Given the description of an element on the screen output the (x, y) to click on. 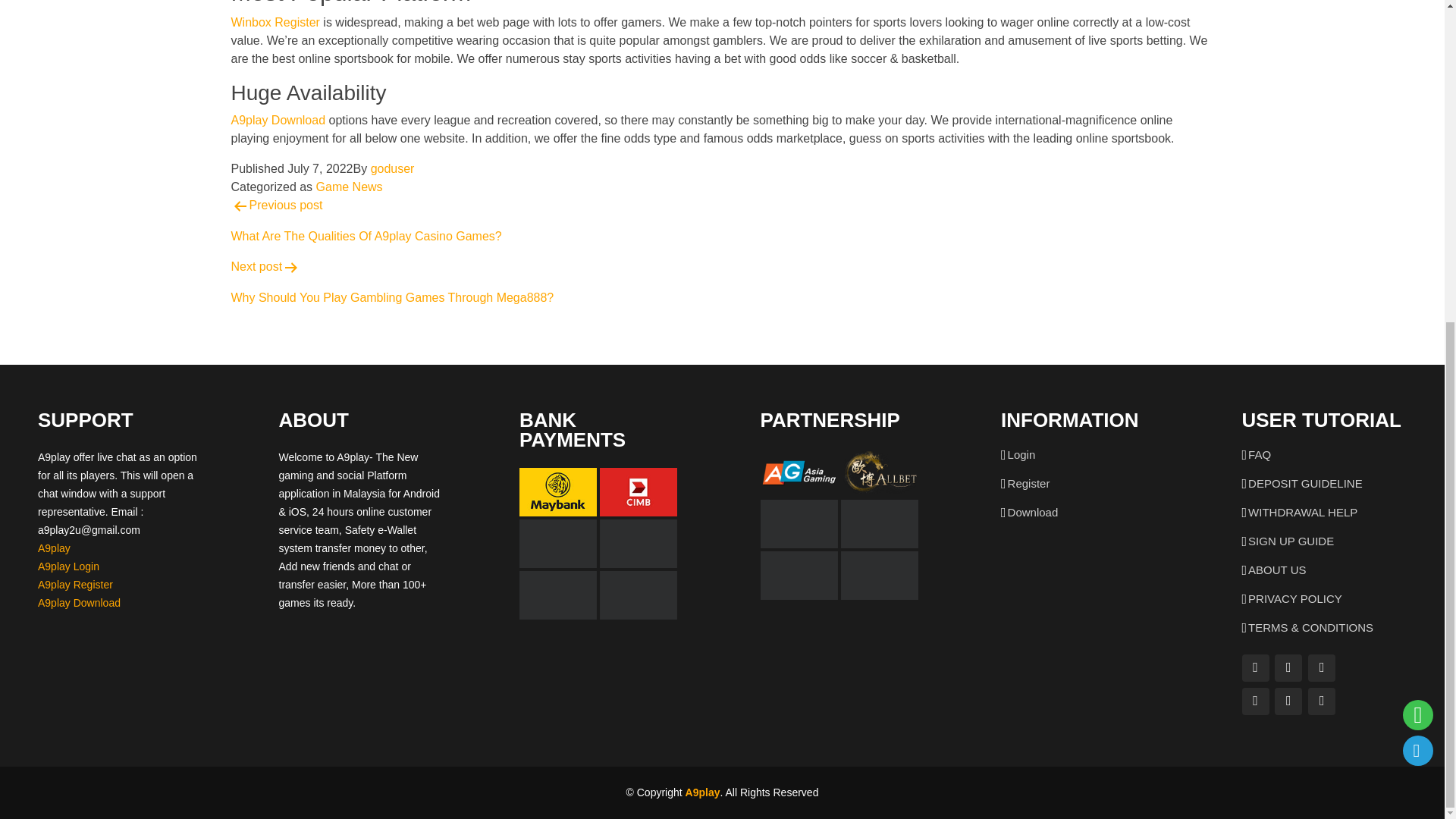
Login (1021, 454)
Register (1028, 482)
ABOUT US (1276, 569)
FAQ (1259, 454)
Game News (348, 186)
Download (1032, 511)
PRIVACY POLICY (721, 220)
SIGN UP GUIDE (1294, 598)
